Given the description of an element on the screen output the (x, y) to click on. 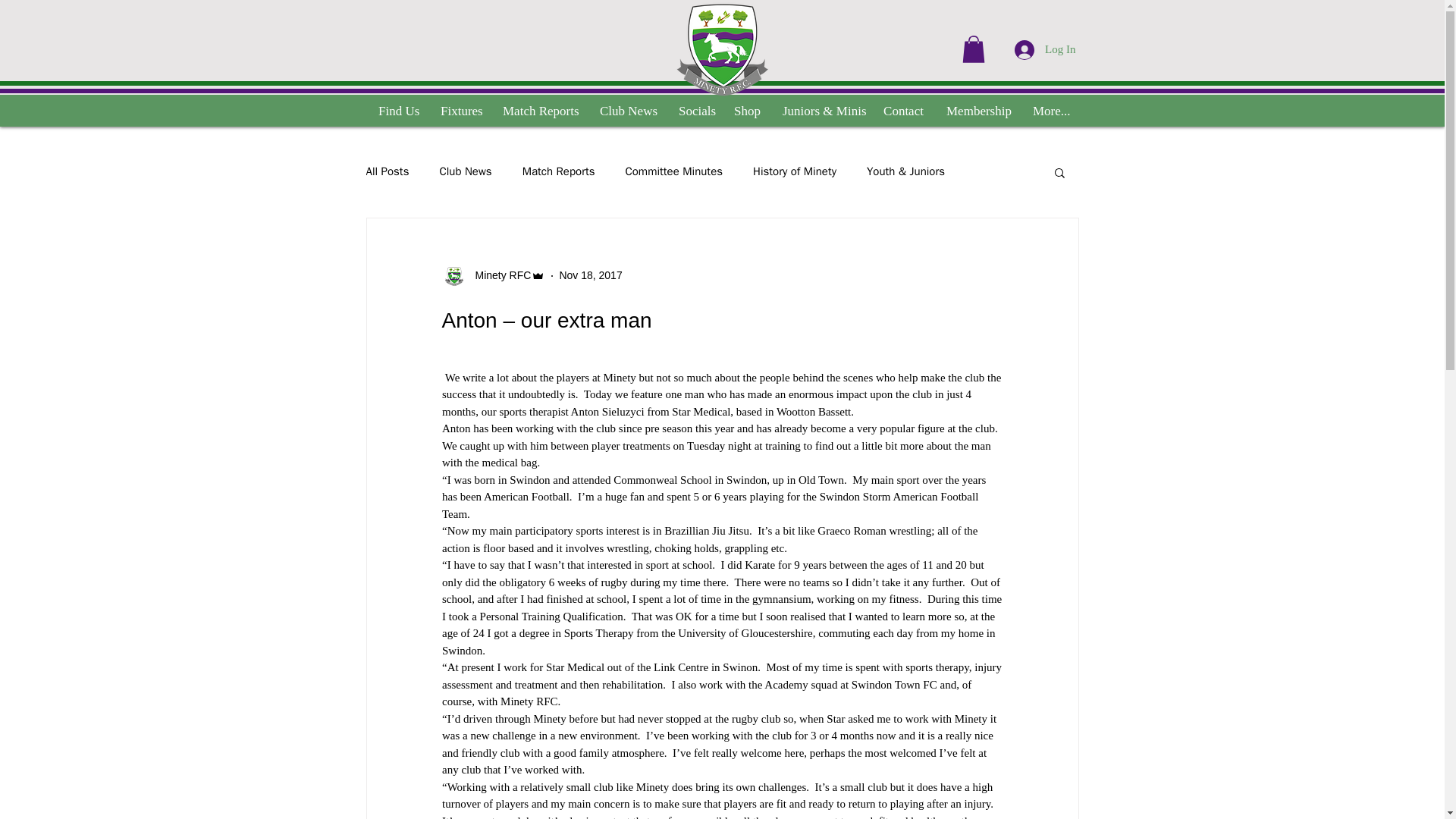
Shop (746, 110)
Club News (465, 171)
Match Reports (558, 171)
Match Reports (540, 110)
Minety RFC (492, 275)
Nov 18, 2017 (590, 275)
Log In (1045, 49)
Contact (903, 110)
Minety RFC (498, 275)
Find Us (397, 110)
